Given the description of an element on the screen output the (x, y) to click on. 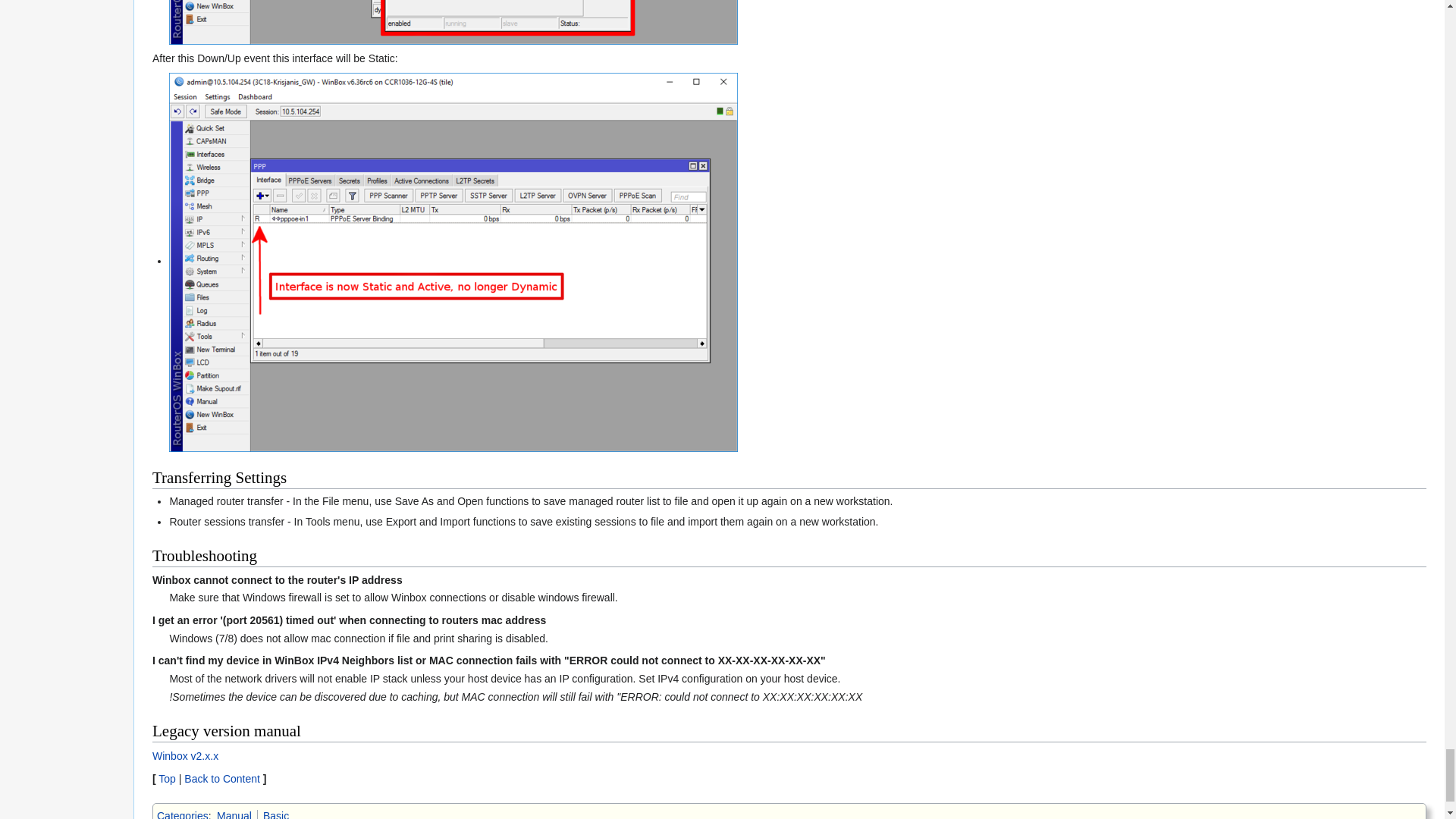
Special:Categories (182, 814)
Category:Basic (275, 814)
Category:Manual (233, 814)
Manual:Winbox v2.x (185, 756)
Manual:TOC (222, 778)
